Given the description of an element on the screen output the (x, y) to click on. 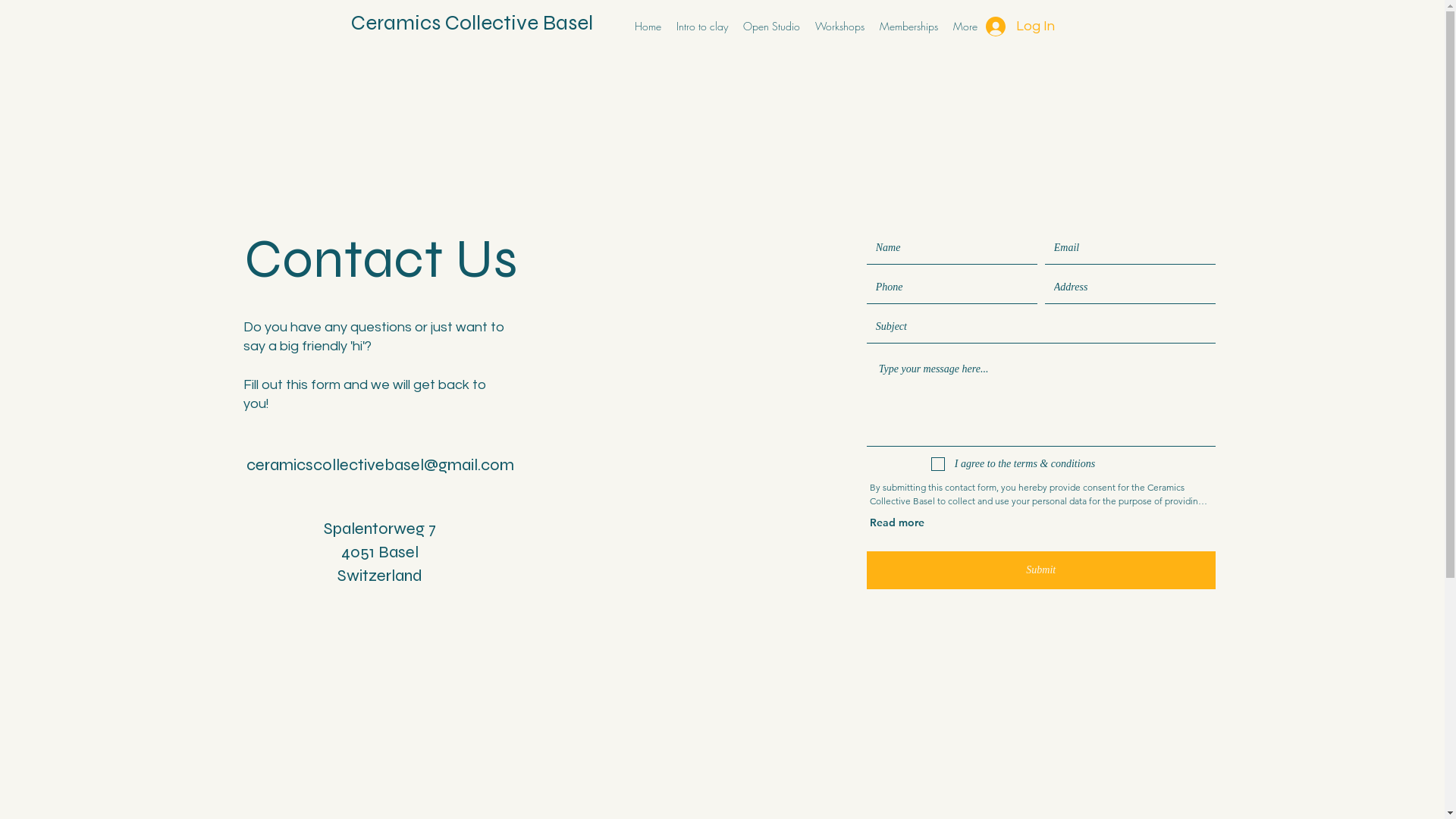
Ceramics Collective Basel Element type: text (471, 22)
Log In Element type: text (1007, 26)
Submit Element type: text (1040, 570)
Workshops Element type: text (838, 26)
ceramicscollectivebasel@gmail.com Element type: text (380, 464)
Memberships Element type: text (908, 26)
Open Studio Element type: text (771, 26)
Read more Element type: text (896, 522)
Home Element type: text (647, 26)
Intro to clay Element type: text (701, 26)
